Given the description of an element on the screen output the (x, y) to click on. 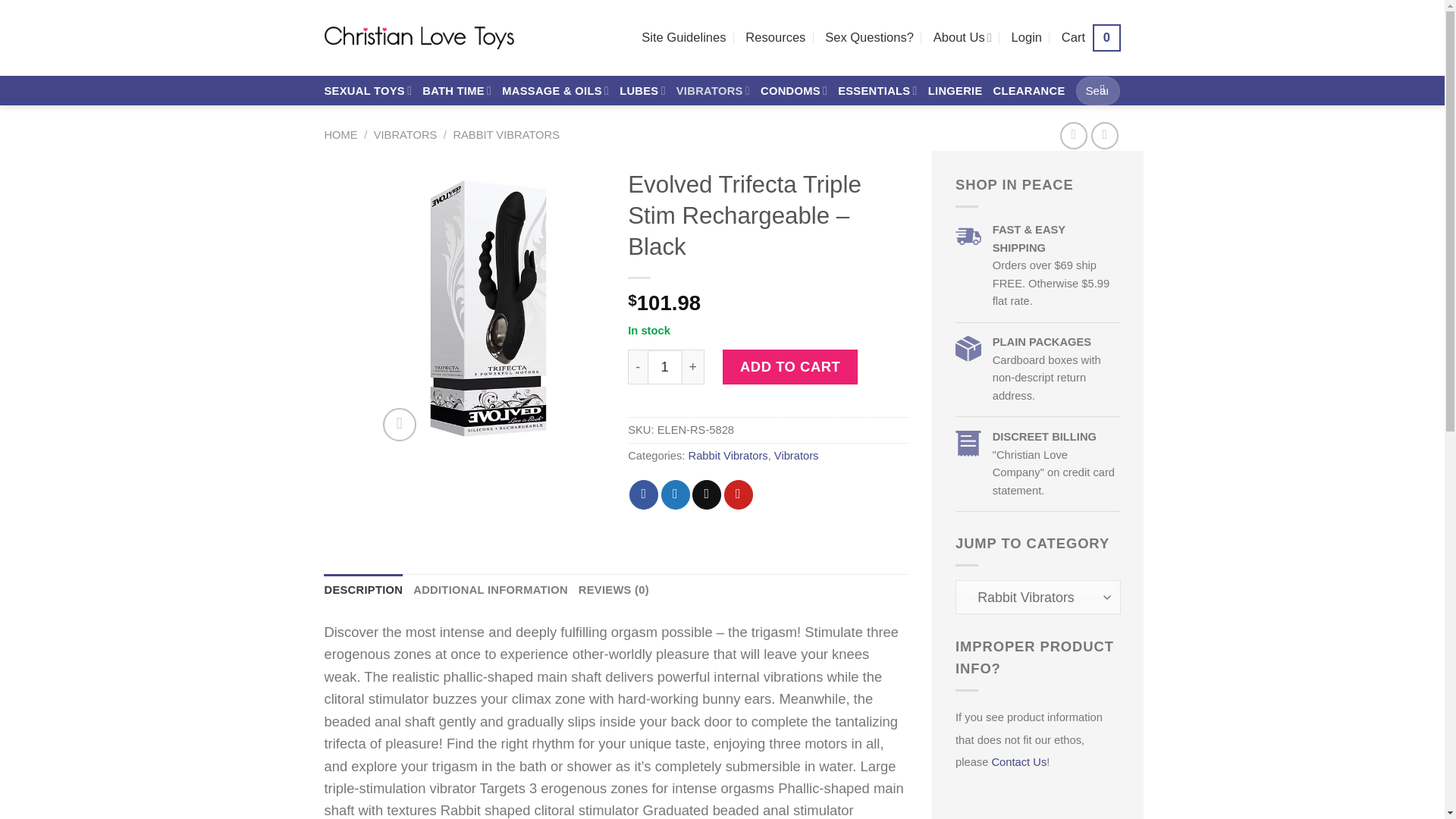
Email to a Friend (706, 493)
Login (1026, 37)
Site Guidelines (683, 37)
Resources (775, 37)
1 (664, 366)
Zoom (399, 424)
Cart (1091, 38)
Christian Love Toys (418, 37)
Pin on Pinterest (1091, 38)
About Us (737, 493)
Share on Facebook (962, 37)
SEXUAL TOYS (643, 493)
Share on Twitter (368, 90)
Sex Questions? (675, 493)
